Given the description of an element on the screen output the (x, y) to click on. 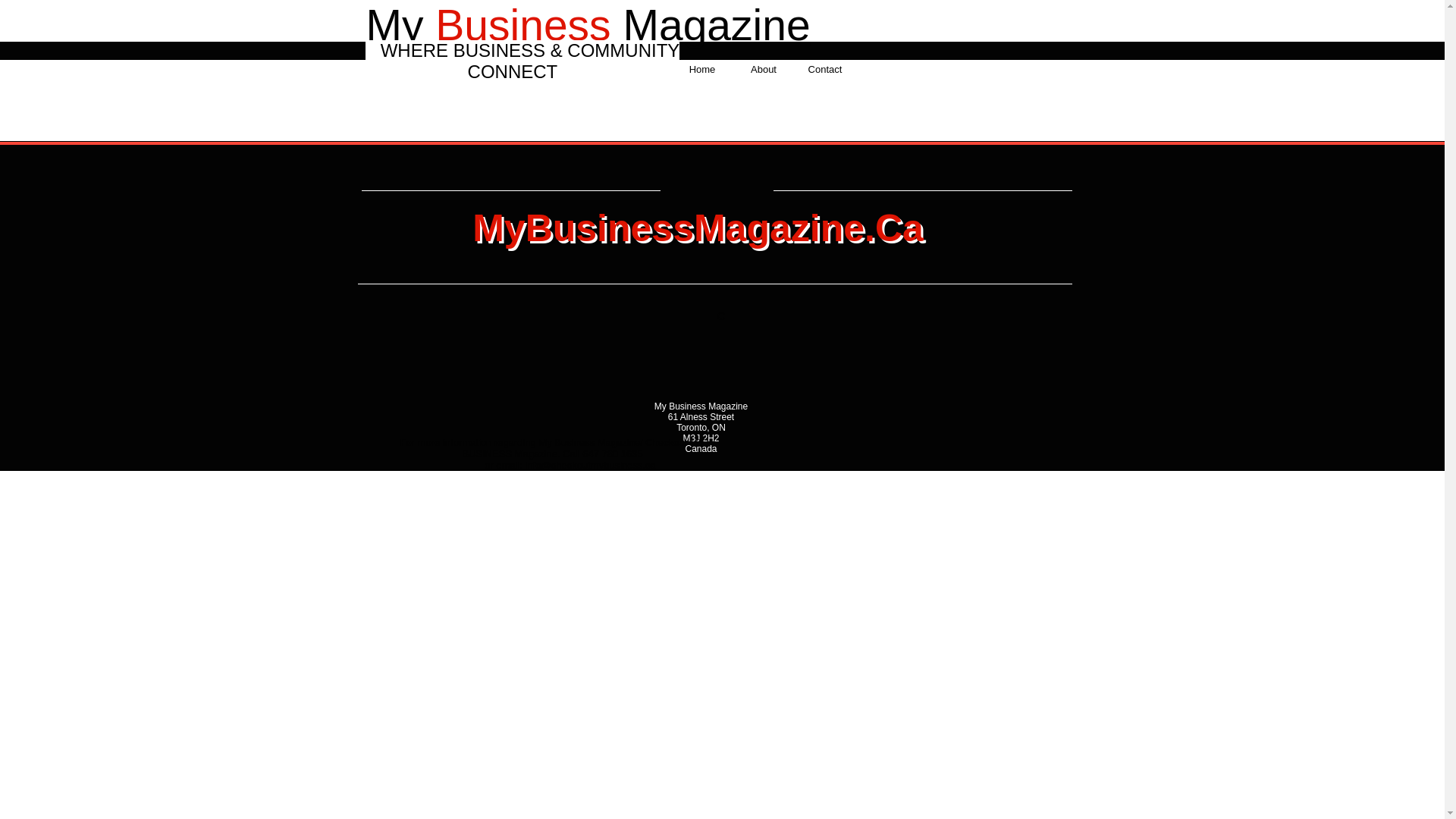
Google Maps (697, 323)
My Business Magazine (587, 24)
Contact (825, 62)
Home (702, 62)
About (762, 62)
